Given the description of an element on the screen output the (x, y) to click on. 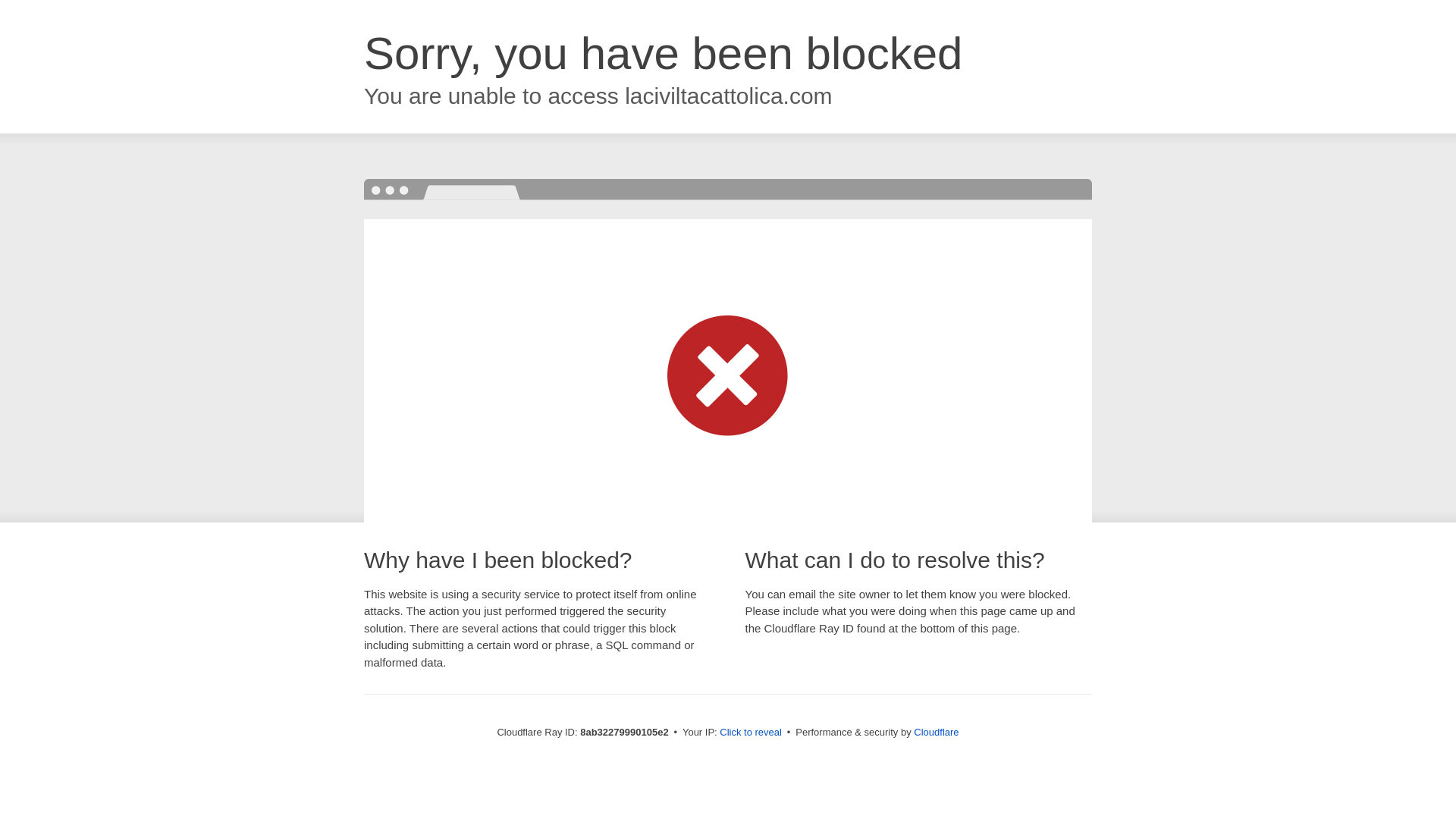
Click to reveal (750, 732)
Cloudflare (936, 731)
